Given the description of an element on the screen output the (x, y) to click on. 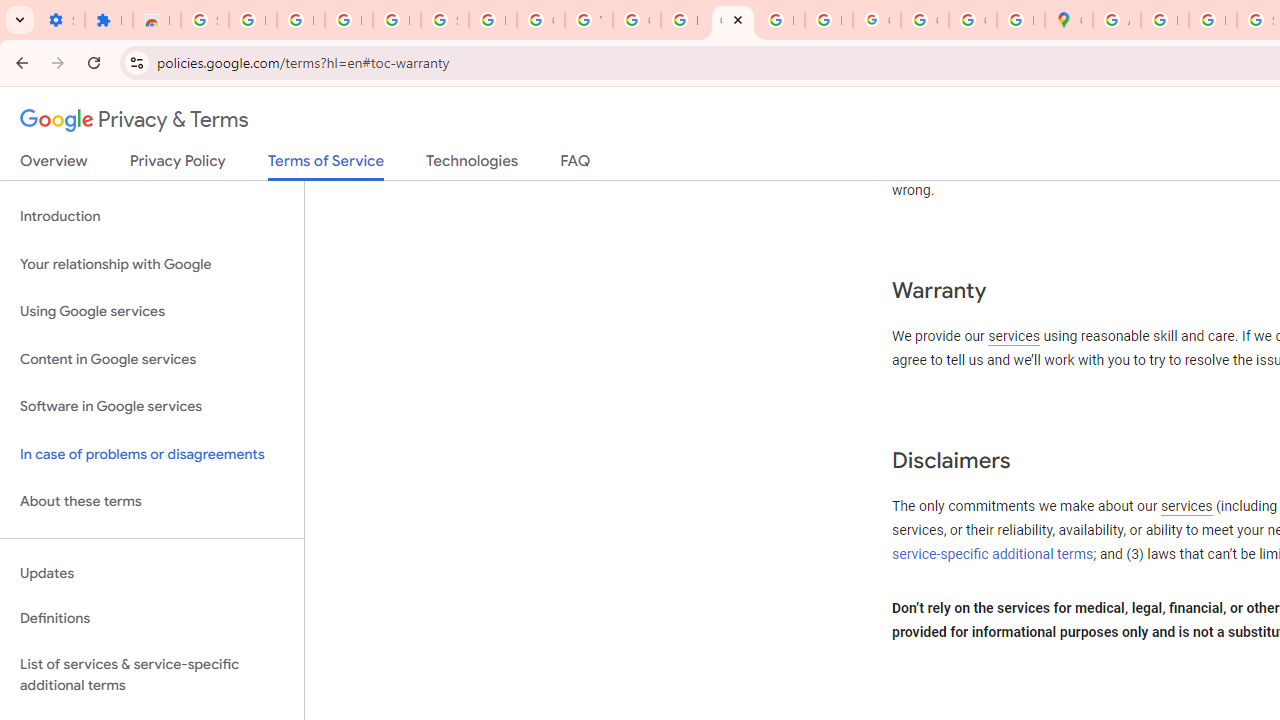
About these terms (152, 502)
Settings - On startup (60, 20)
services (1186, 507)
Software in Google services (152, 407)
Delete photos & videos - Computer - Google Photos Help (300, 20)
YouTube (588, 20)
Your relationship with Google (152, 263)
Google Maps (1068, 20)
